Given the description of an element on the screen output the (x, y) to click on. 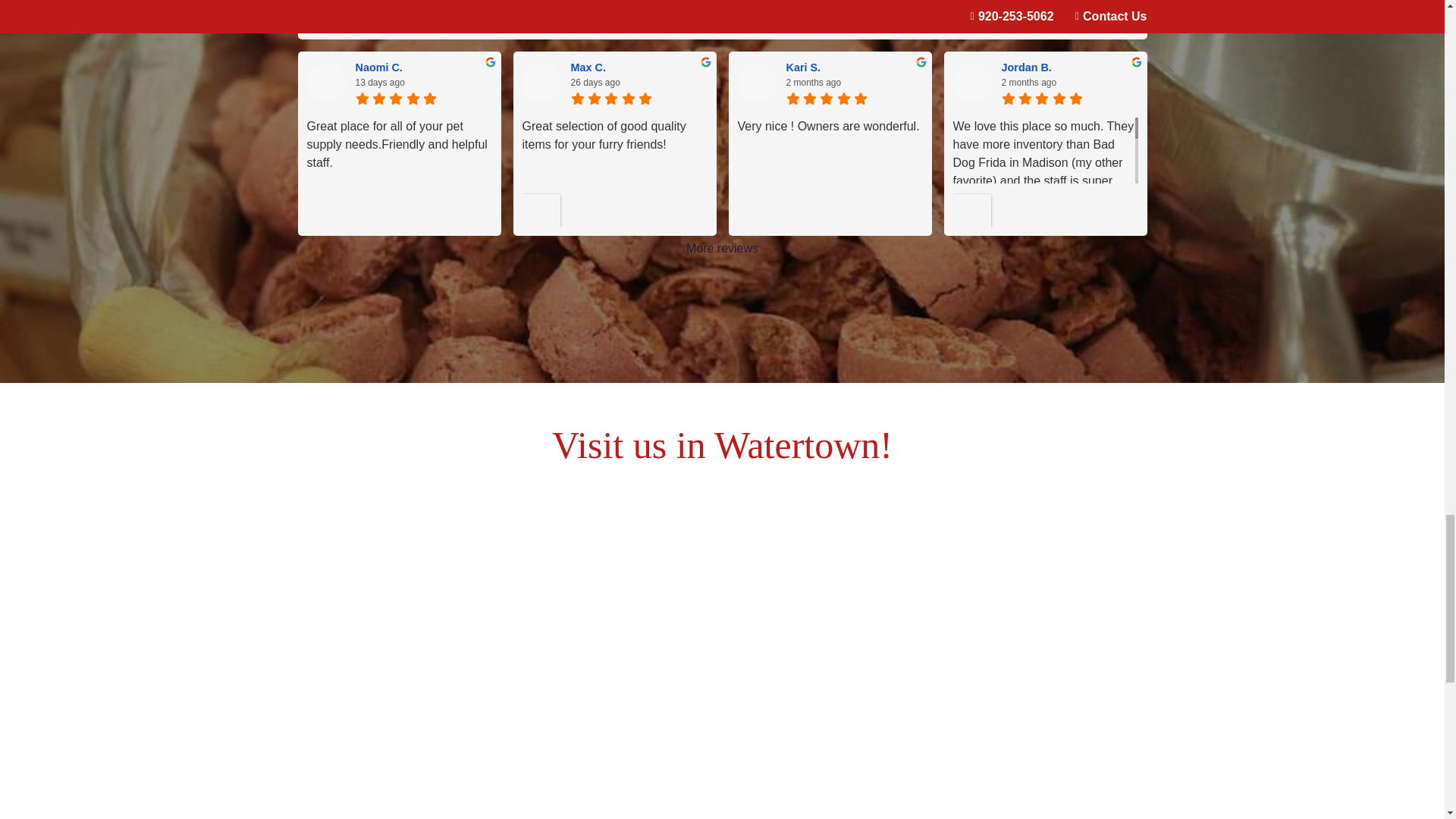
Pidder Padder Paws (330, 6)
More reviews (721, 248)
Naomi C. (423, 67)
Naomi C. (325, 82)
Jordan B. (1069, 67)
Jordan B. (971, 82)
Kari S. (853, 67)
See all reviews (1044, 2)
Kari S. (756, 82)
Max C. (638, 67)
Max C. (540, 82)
Very nice ! Owners are wonderful. (828, 171)
